Given the description of an element on the screen output the (x, y) to click on. 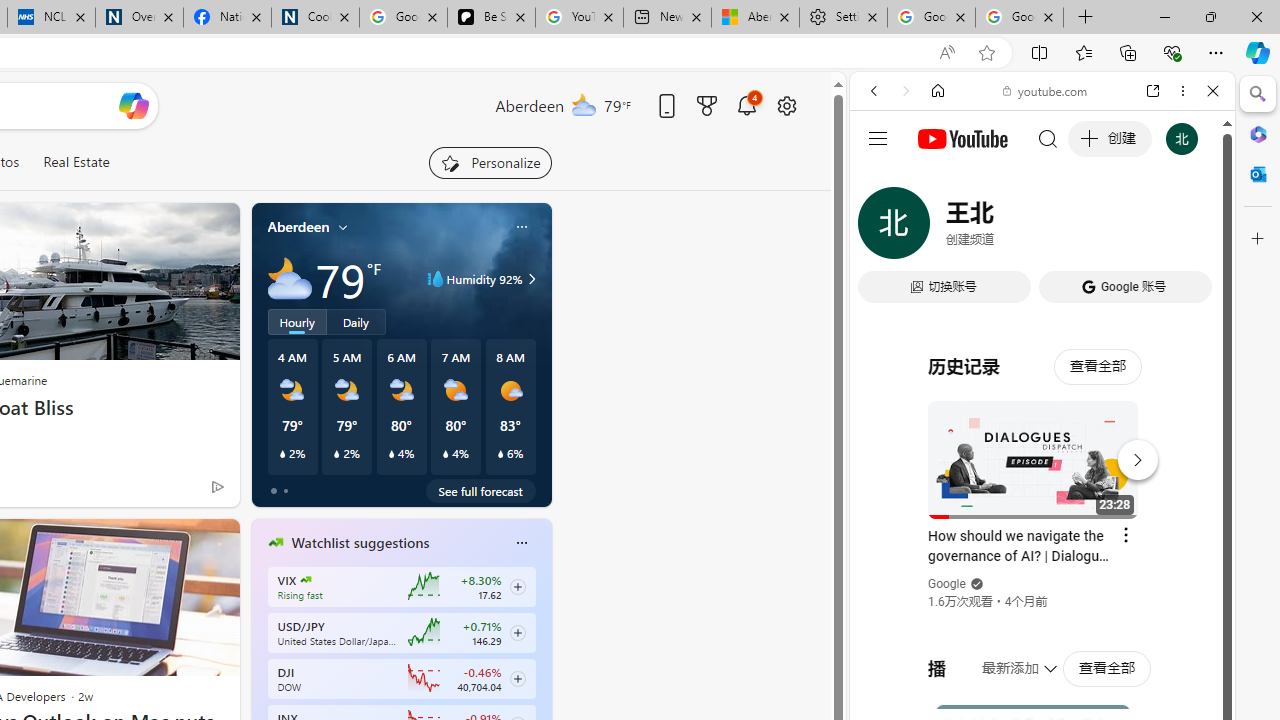
CBOE Market Volatility Index (306, 579)
This site scope (936, 180)
Music (1042, 543)
See full forecast (480, 490)
previous (261, 670)
WEB   (882, 228)
